Given the description of an element on the screen output the (x, y) to click on. 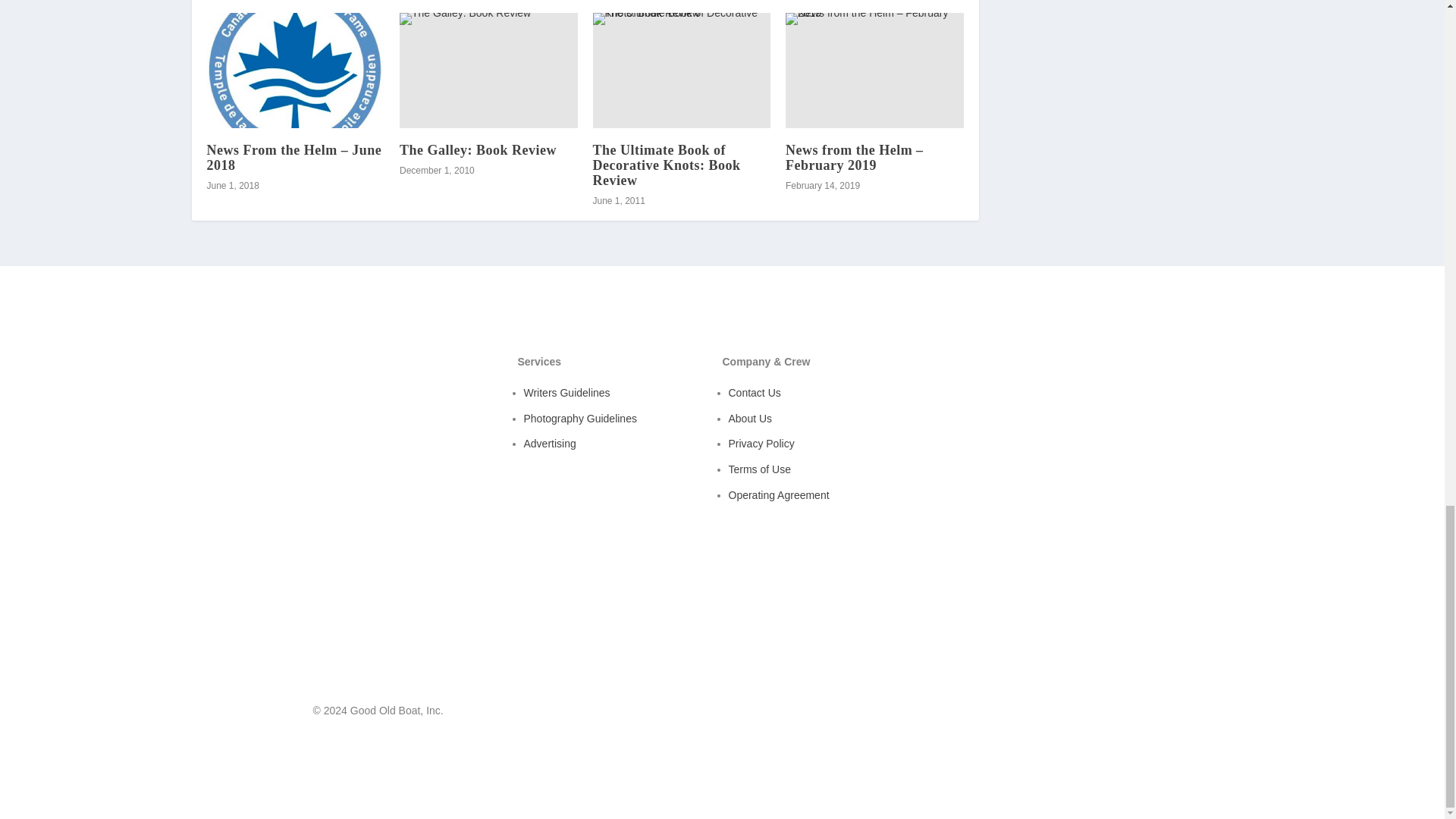
The Ultimate Book of Decorative Knots: Book Review (681, 70)
The Galley: Book Review (488, 70)
The Galley: Book Review (477, 150)
Follow on Youtube (1118, 713)
Follow on Facebook (1088, 713)
